Given the description of an element on the screen output the (x, y) to click on. 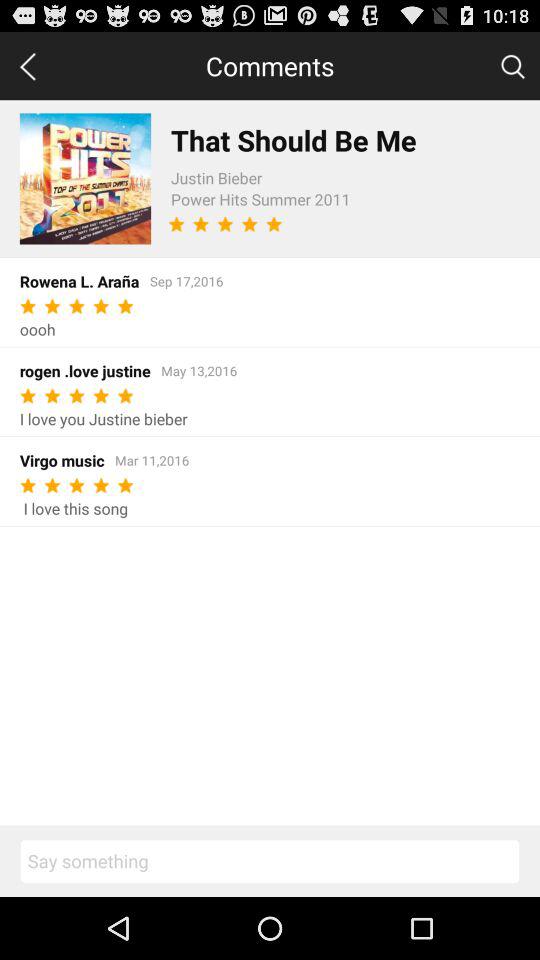
chat (269, 861)
